Given the description of an element on the screen output the (x, y) to click on. 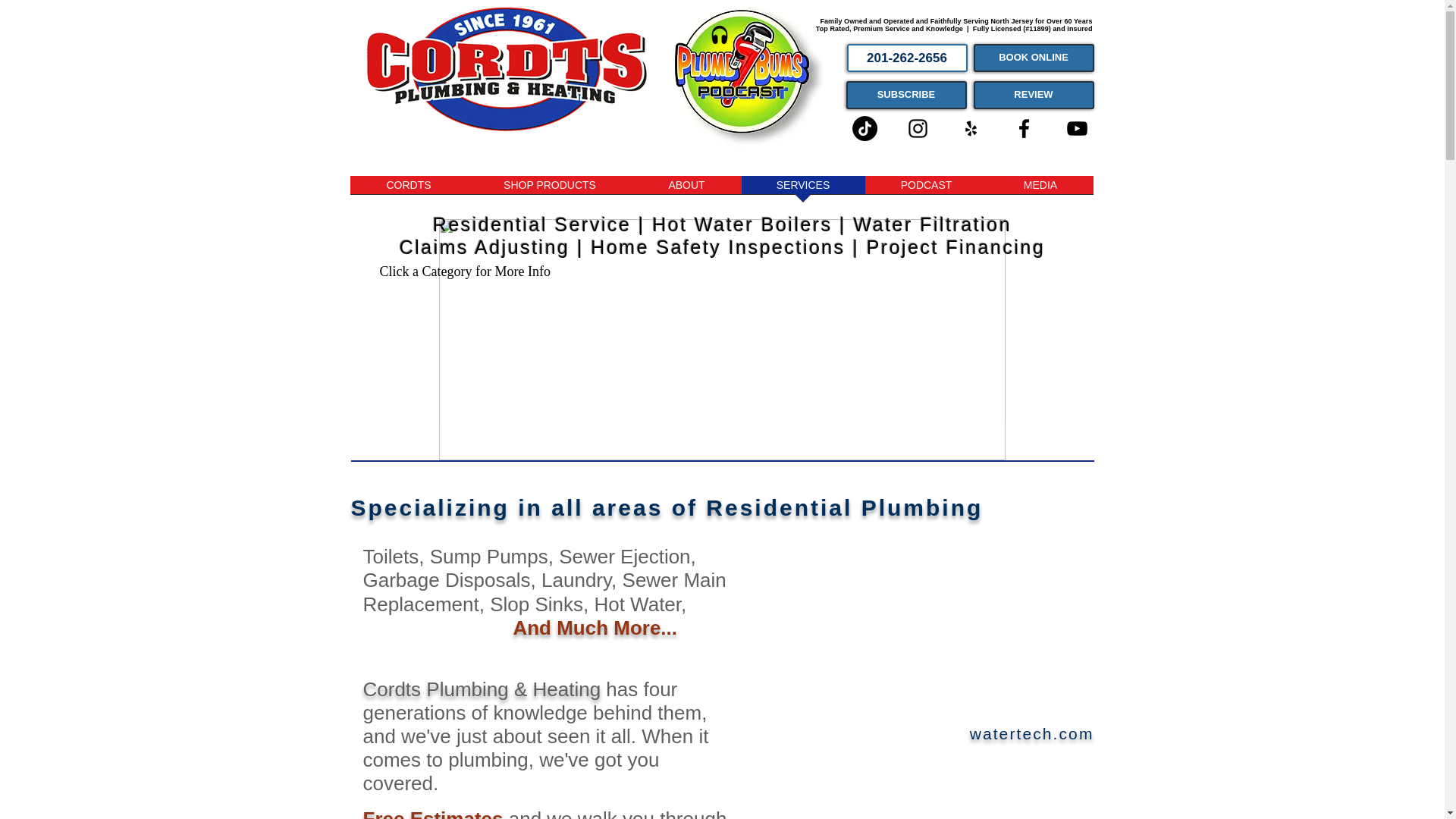
201-262-2656 (905, 58)
BOOK ONLINE (1034, 58)
REVIEW (1034, 94)
MEDIA (1040, 189)
CORDTS (408, 189)
PODCAST (925, 189)
SHOP PRODUCTS (549, 189)
SERVICES (802, 189)
Water Filtration (932, 224)
SUBSCRIBE (905, 94)
watertech.com (1031, 733)
ABOUT (686, 189)
Project Financing (955, 246)
